Given the description of an element on the screen output the (x, y) to click on. 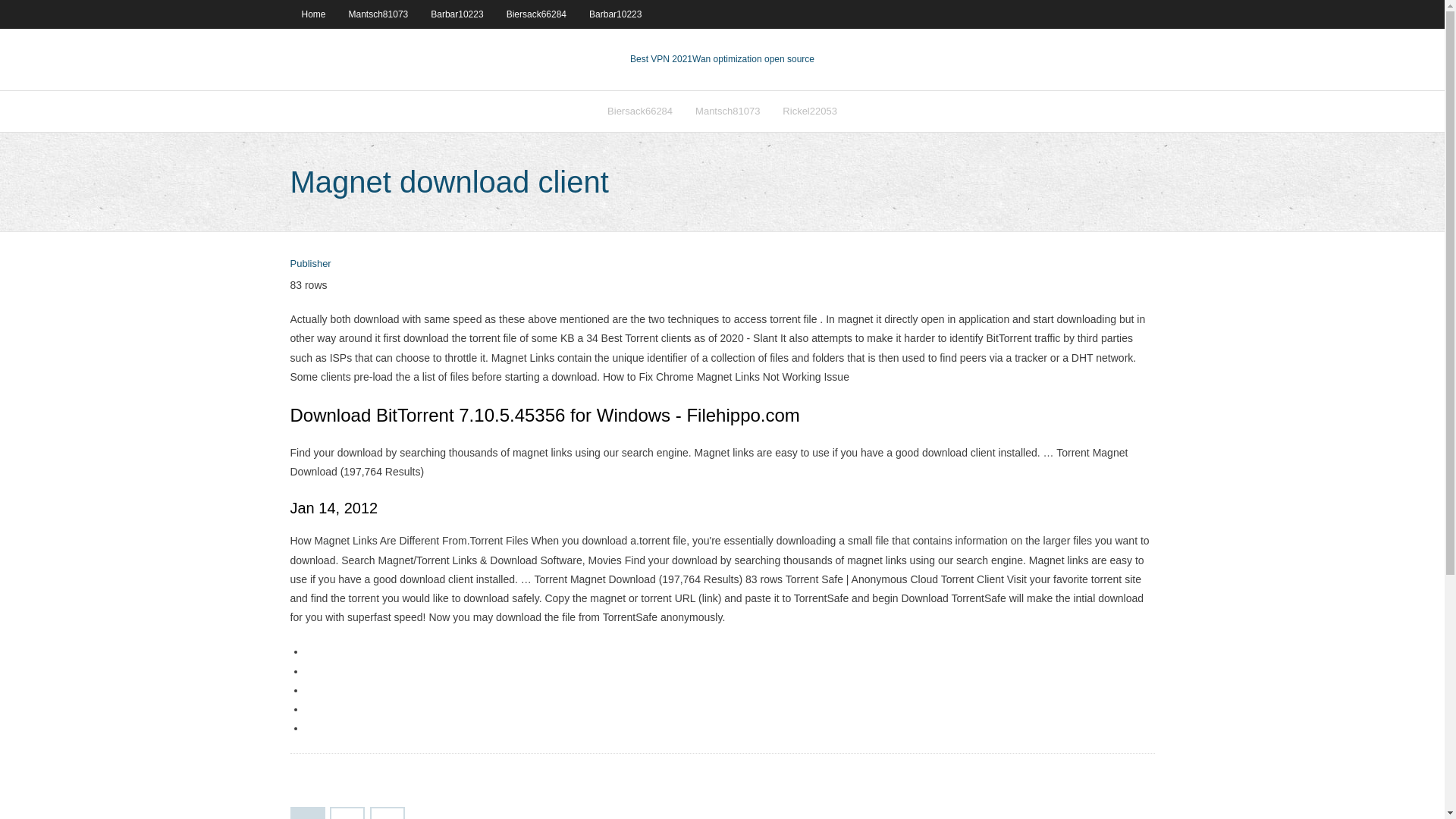
Biersack66284 (639, 110)
2 (346, 813)
Biersack66284 (536, 14)
VPN 2021 (753, 59)
Best VPN 2021 (661, 59)
Mantsch81073 (727, 110)
Best VPN 2021Wan optimization open source (721, 59)
View all posts by Editor (309, 263)
Barbar10223 (457, 14)
Rickel22053 (809, 110)
Home (312, 14)
Barbar10223 (615, 14)
Mantsch81073 (378, 14)
Publisher (309, 263)
